Given the description of an element on the screen output the (x, y) to click on. 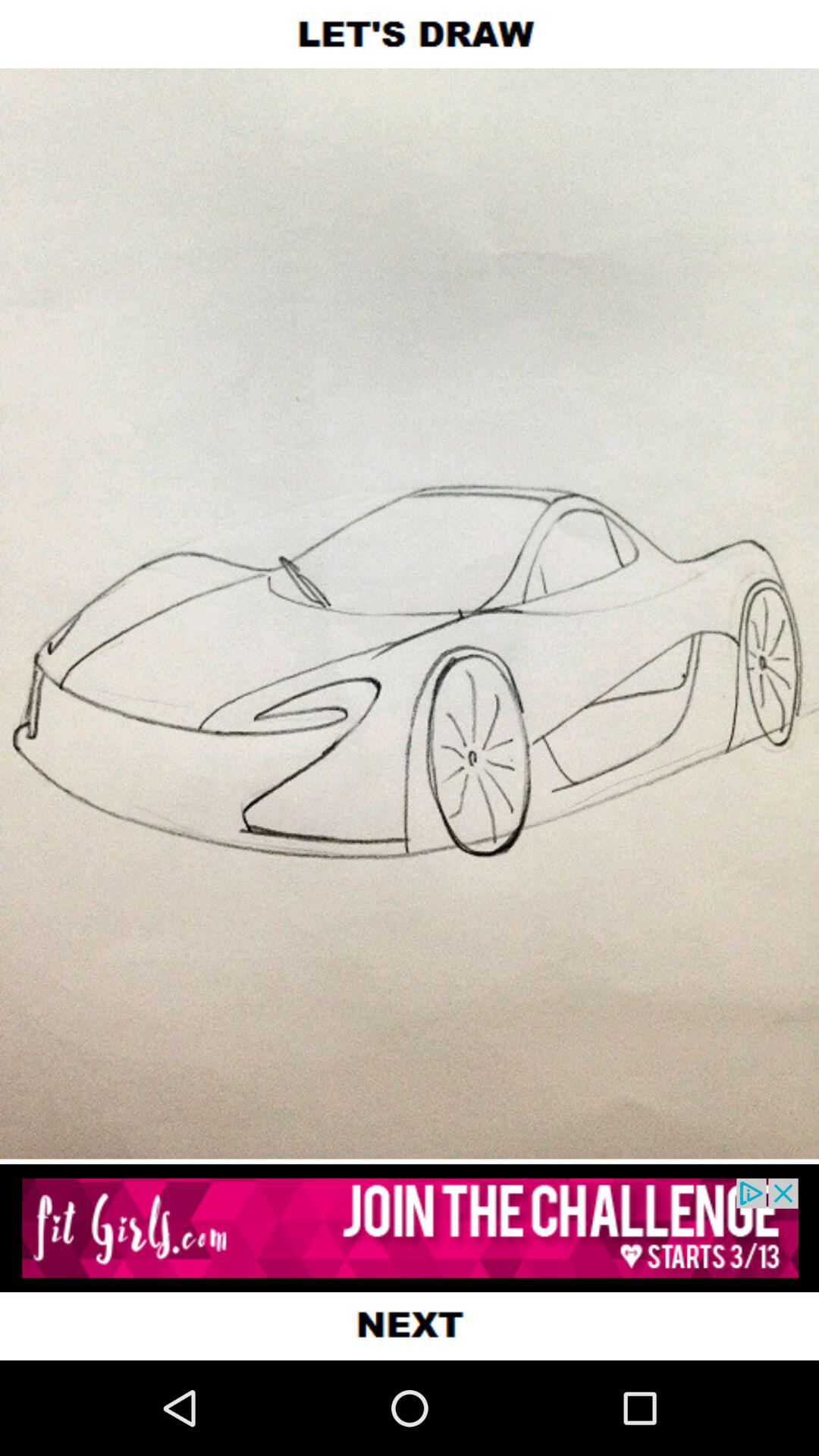
go to the next page (409, 1326)
